Given the description of an element on the screen output the (x, y) to click on. 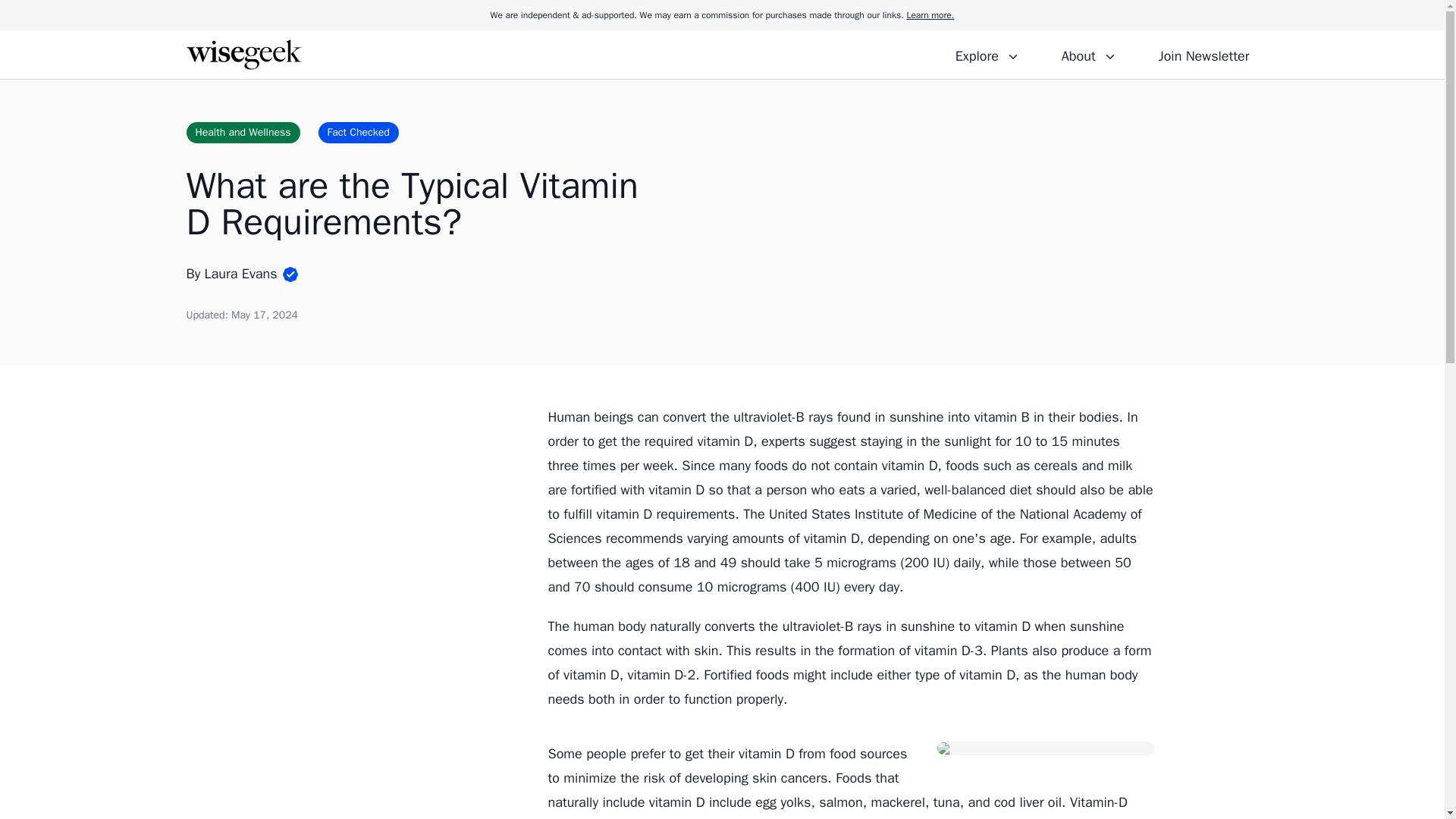
About (1088, 54)
Explore (986, 54)
Fact Checked (358, 132)
Join Newsletter (1202, 54)
Learn more. (929, 15)
Health and Wellness (242, 132)
